Given the description of an element on the screen output the (x, y) to click on. 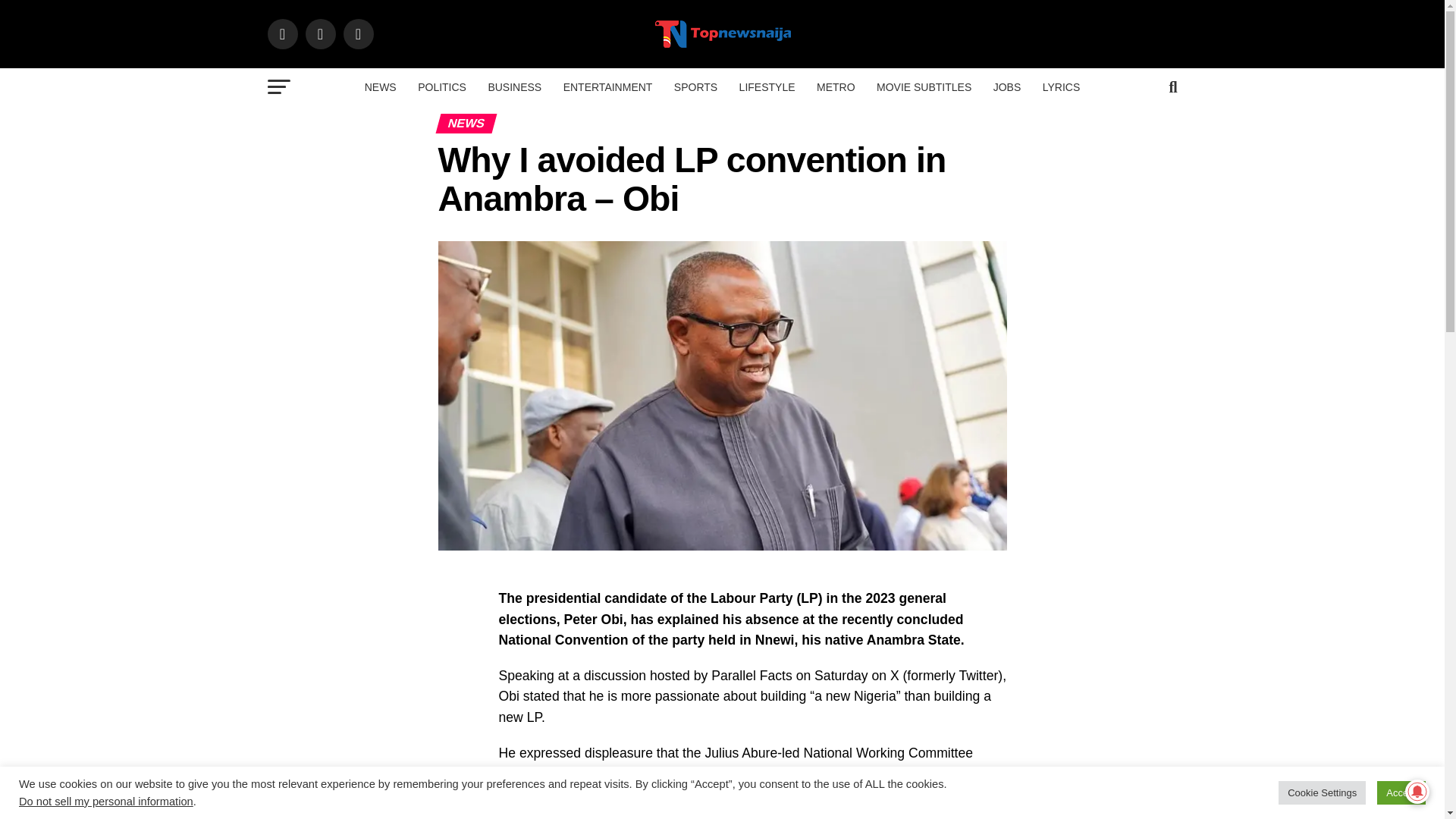
ENTERTAINMENT (608, 86)
NEWS (380, 86)
BUSINESS (514, 86)
POLITICS (442, 86)
